Given the description of an element on the screen output the (x, y) to click on. 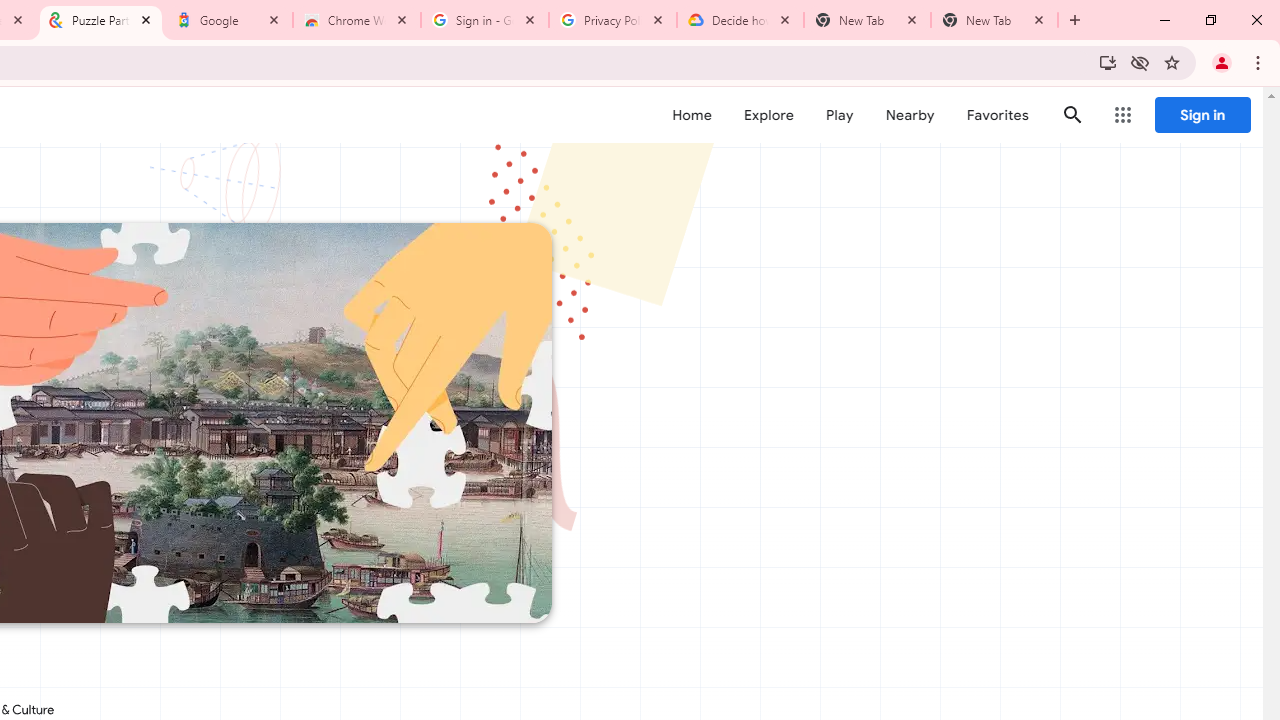
Close Experiment (1222, 126)
Sign in - Google Accounts (485, 20)
Chrome Web Store - Color themes by Chrome (357, 20)
Play (840, 115)
Install Google Arts & Culture (1107, 62)
Nearby (910, 115)
